Given the description of an element on the screen output the (x, y) to click on. 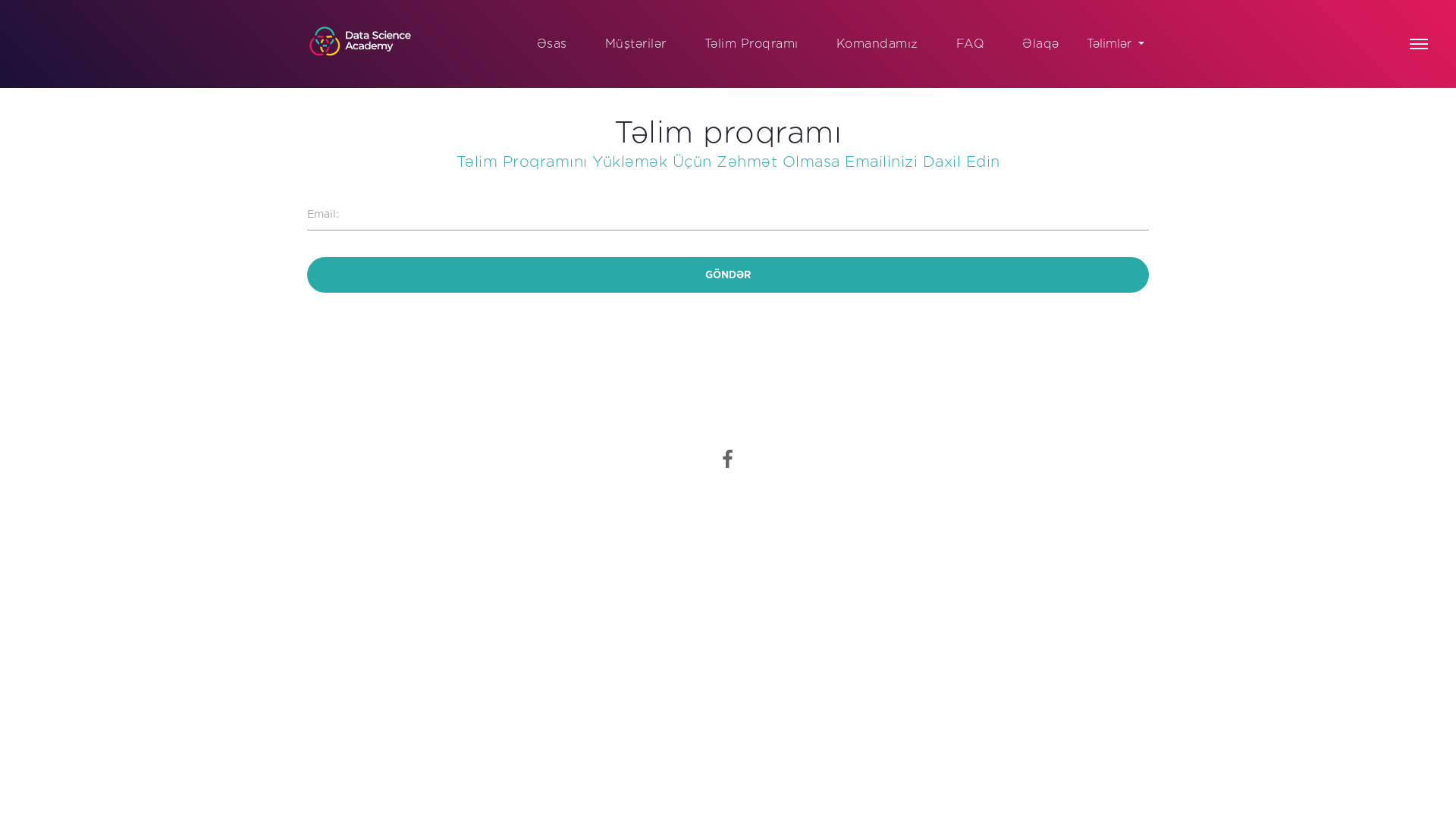
FAQ Element type: text (970, 43)
